Given the description of an element on the screen output the (x, y) to click on. 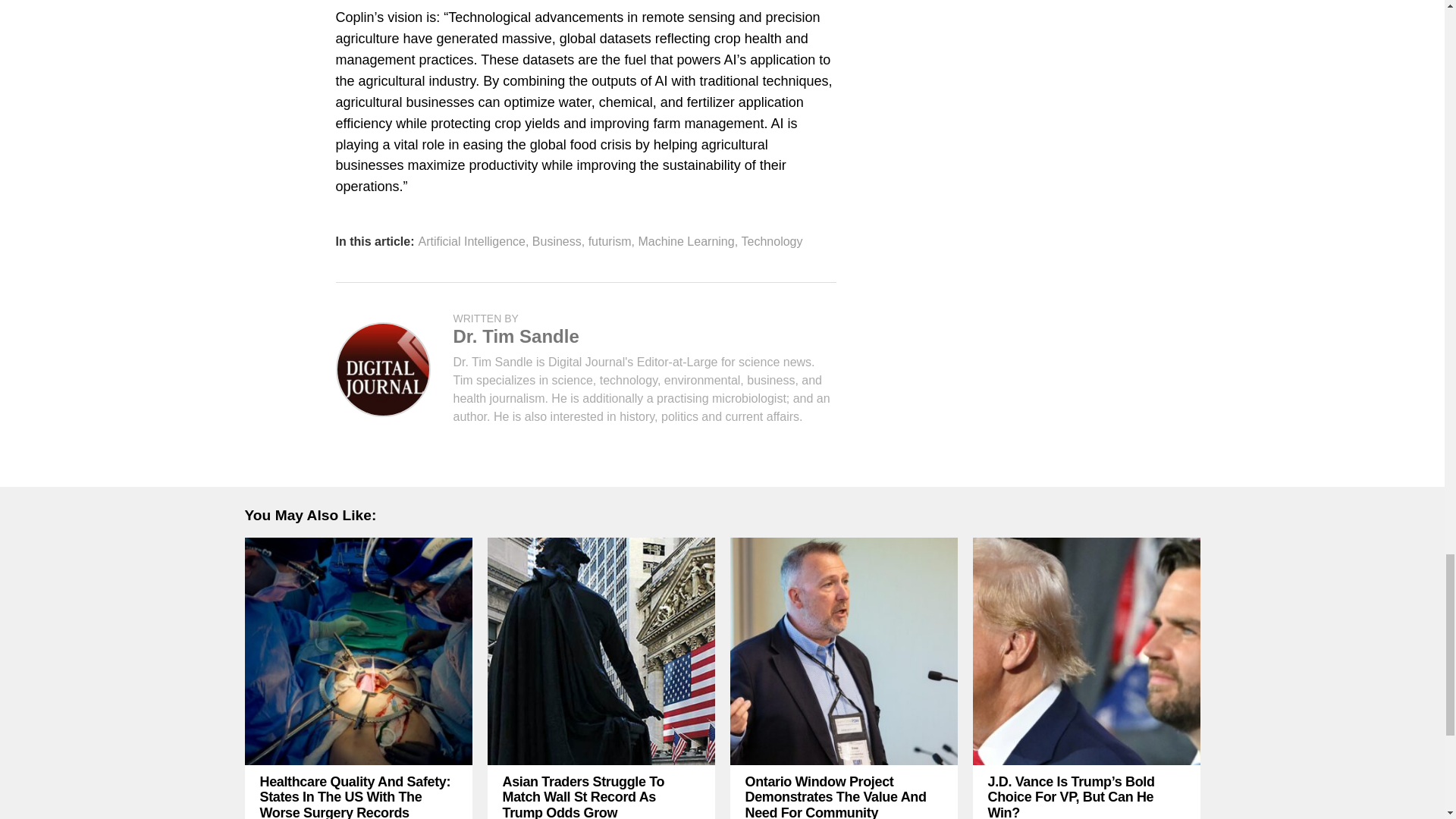
Posts by Dr. Tim Sandle (515, 335)
